Given the description of an element on the screen output the (x, y) to click on. 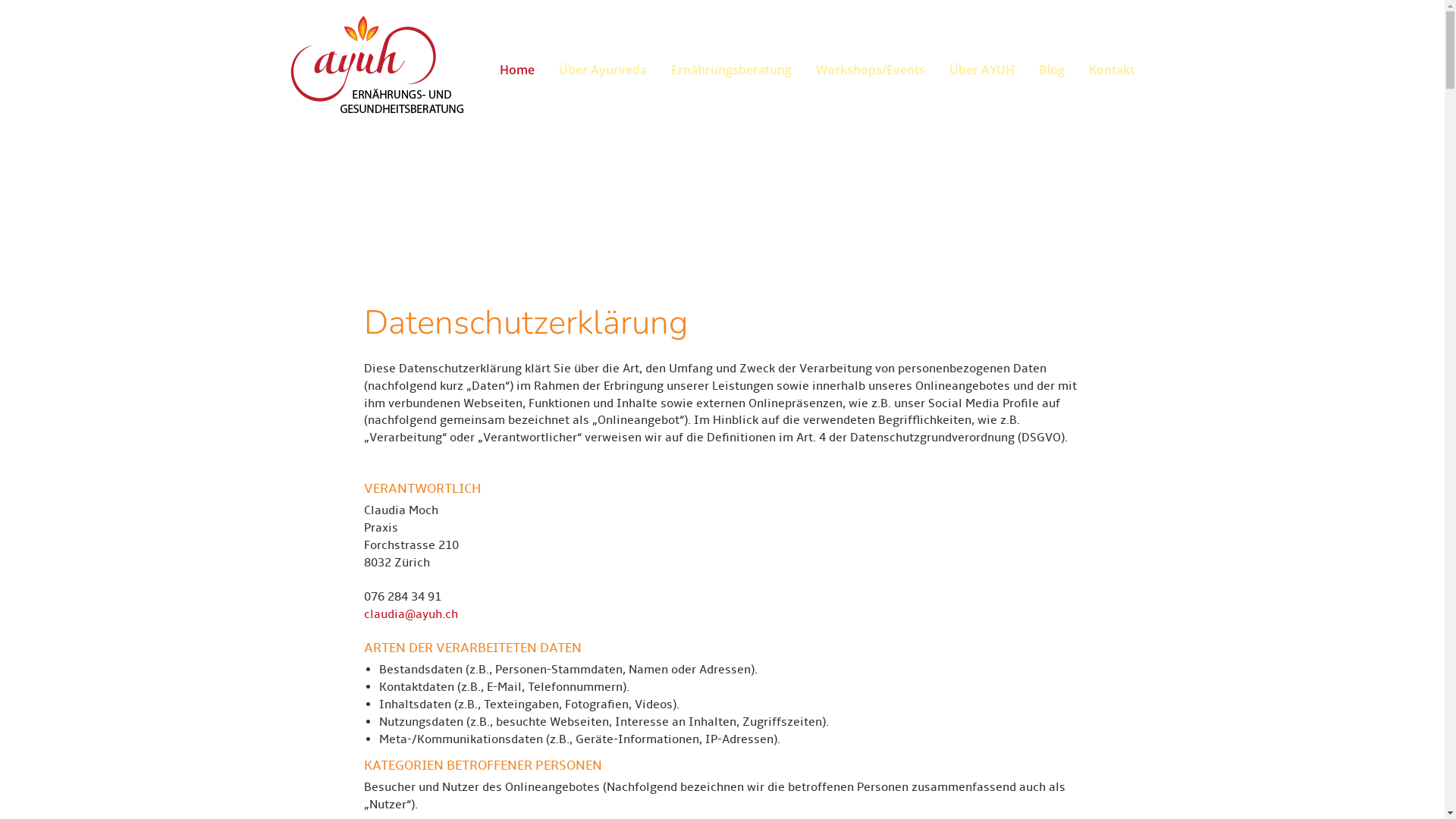
Kontakt Element type: text (1105, 69)
Blog Element type: text (1051, 69)
Home Element type: text (516, 69)
Workshops/Events Element type: text (870, 69)
claudia@ayuh.ch Element type: text (411, 613)
